Given the description of an element on the screen output the (x, y) to click on. 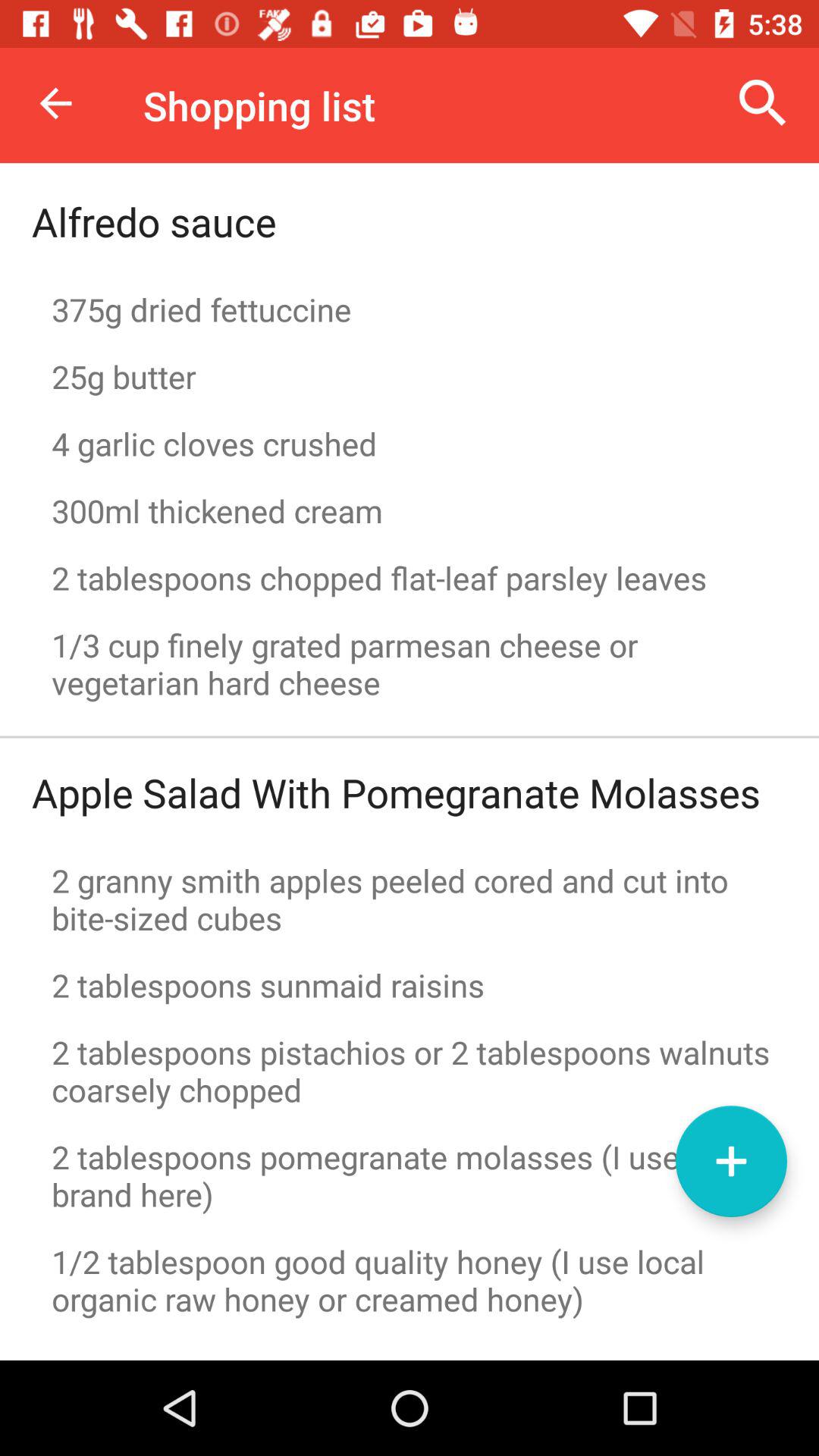
select the item above the 2 granny smith (396, 792)
